Given the description of an element on the screen output the (x, y) to click on. 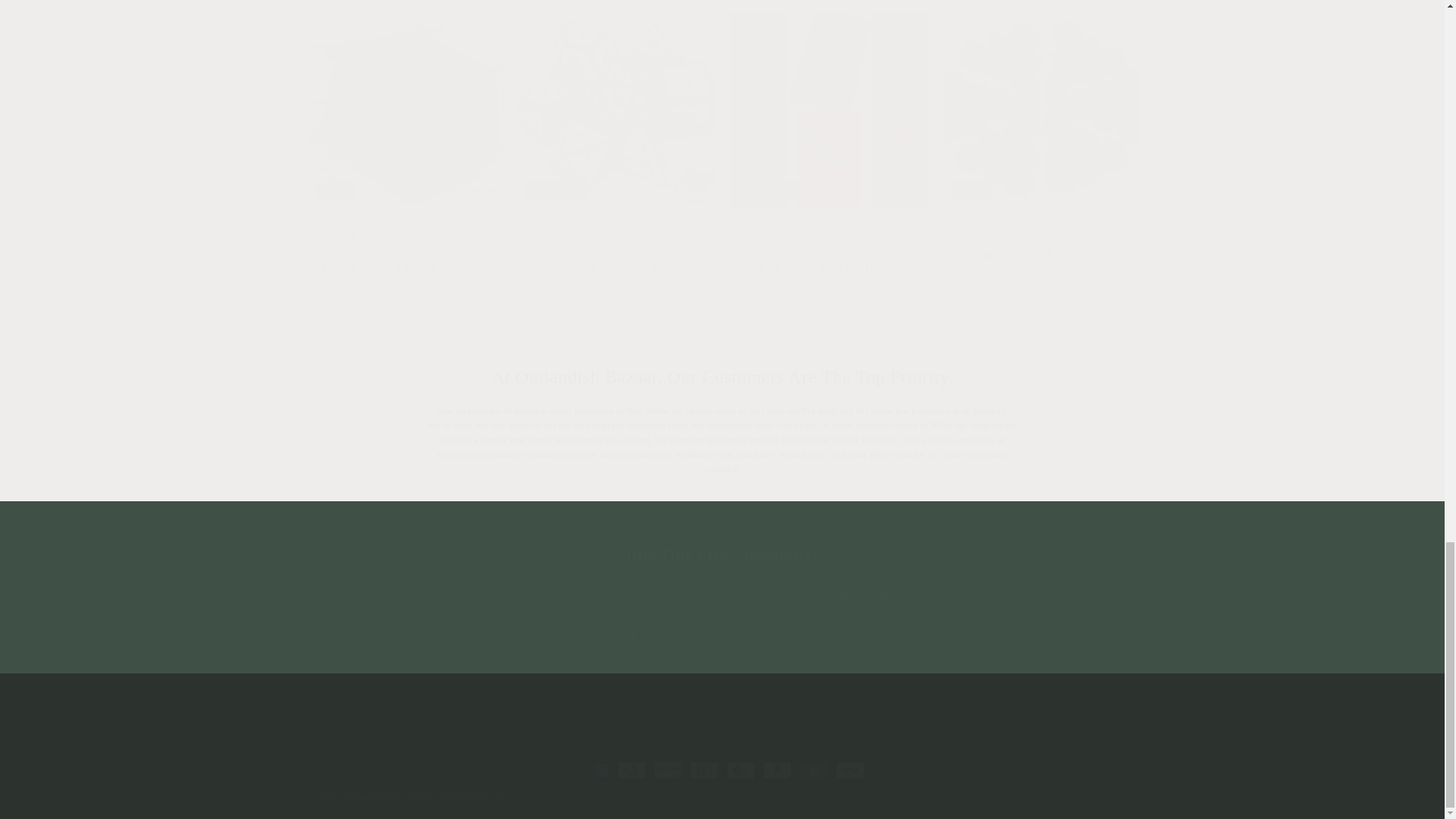
To Receive Updates on New Products, Discounts, and Sales. (722, 593)
Email (722, 637)
At Outlandish Bazaar, Our Customers Are The Top Priority. (721, 377)
Join Our Free Newsletter (721, 555)
